Given the description of an element on the screen output the (x, y) to click on. 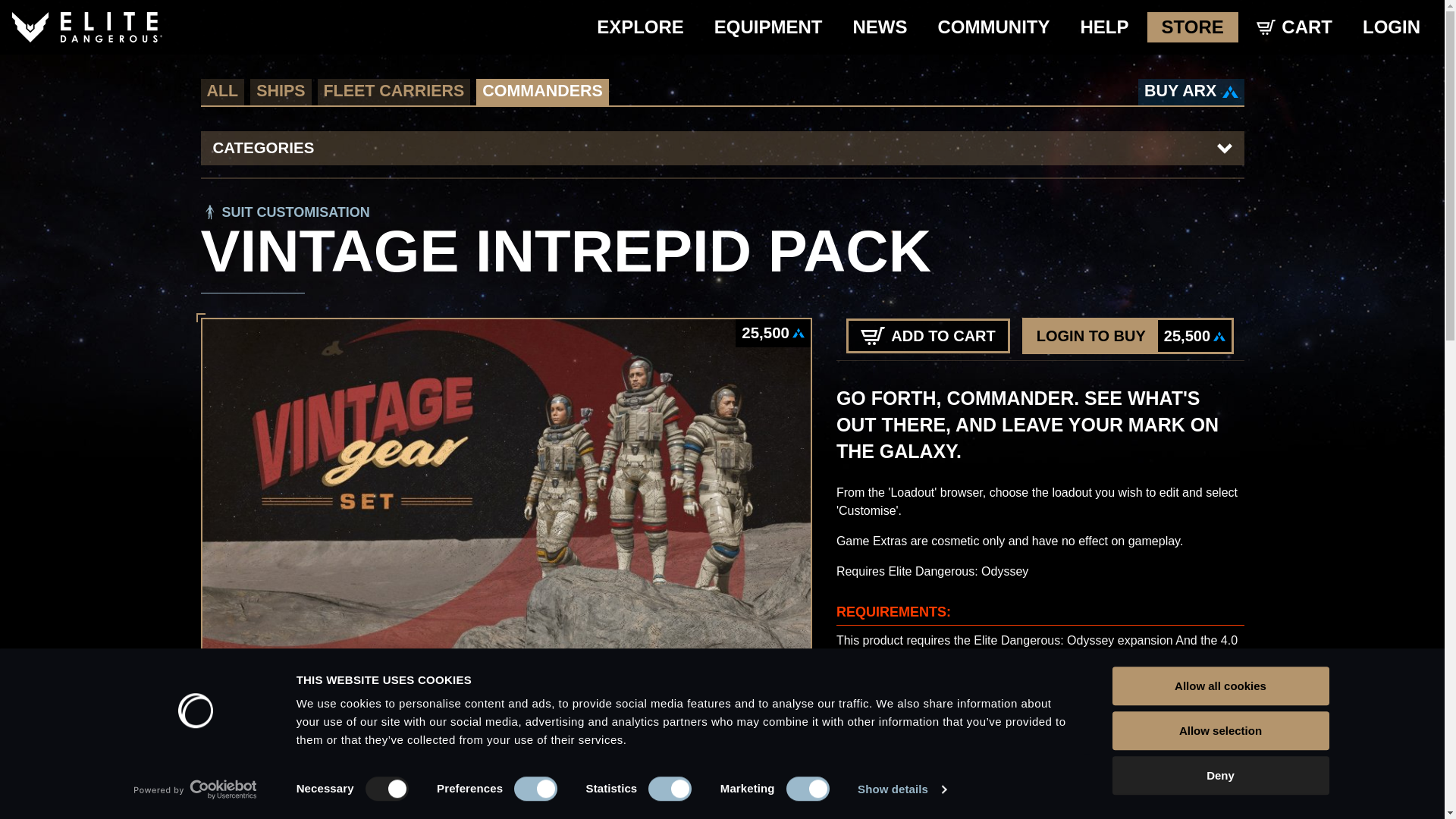
Show details (900, 789)
